Given the description of an element on the screen output the (x, y) to click on. 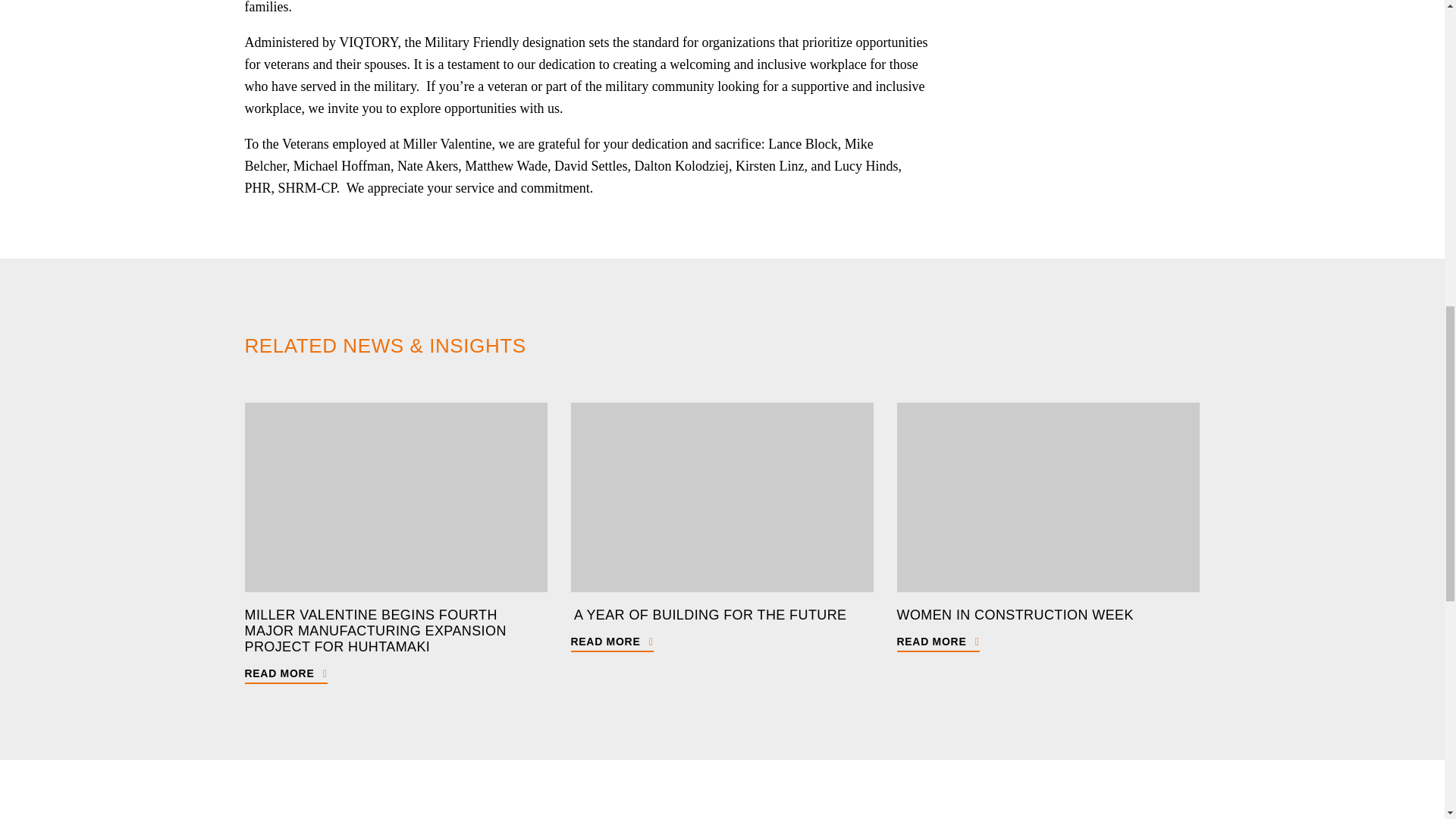
READ MORE (611, 640)
READ MORE (285, 672)
READ MORE (937, 640)
